Given the description of an element on the screen output the (x, y) to click on. 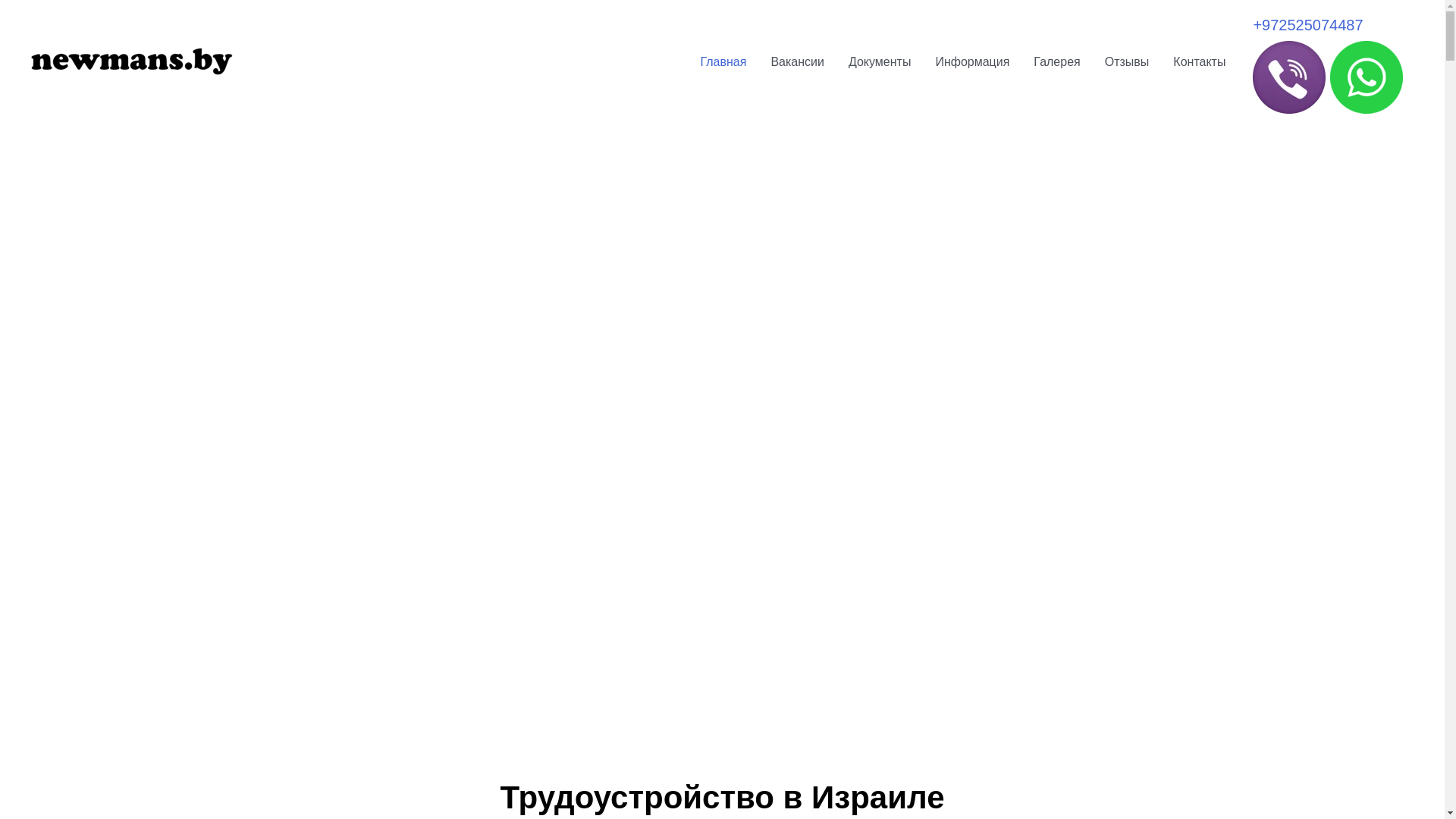
+972525074487 Element type: text (1307, 24)
Viber Element type: hover (1288, 75)
